Given the description of an element on the screen output the (x, y) to click on. 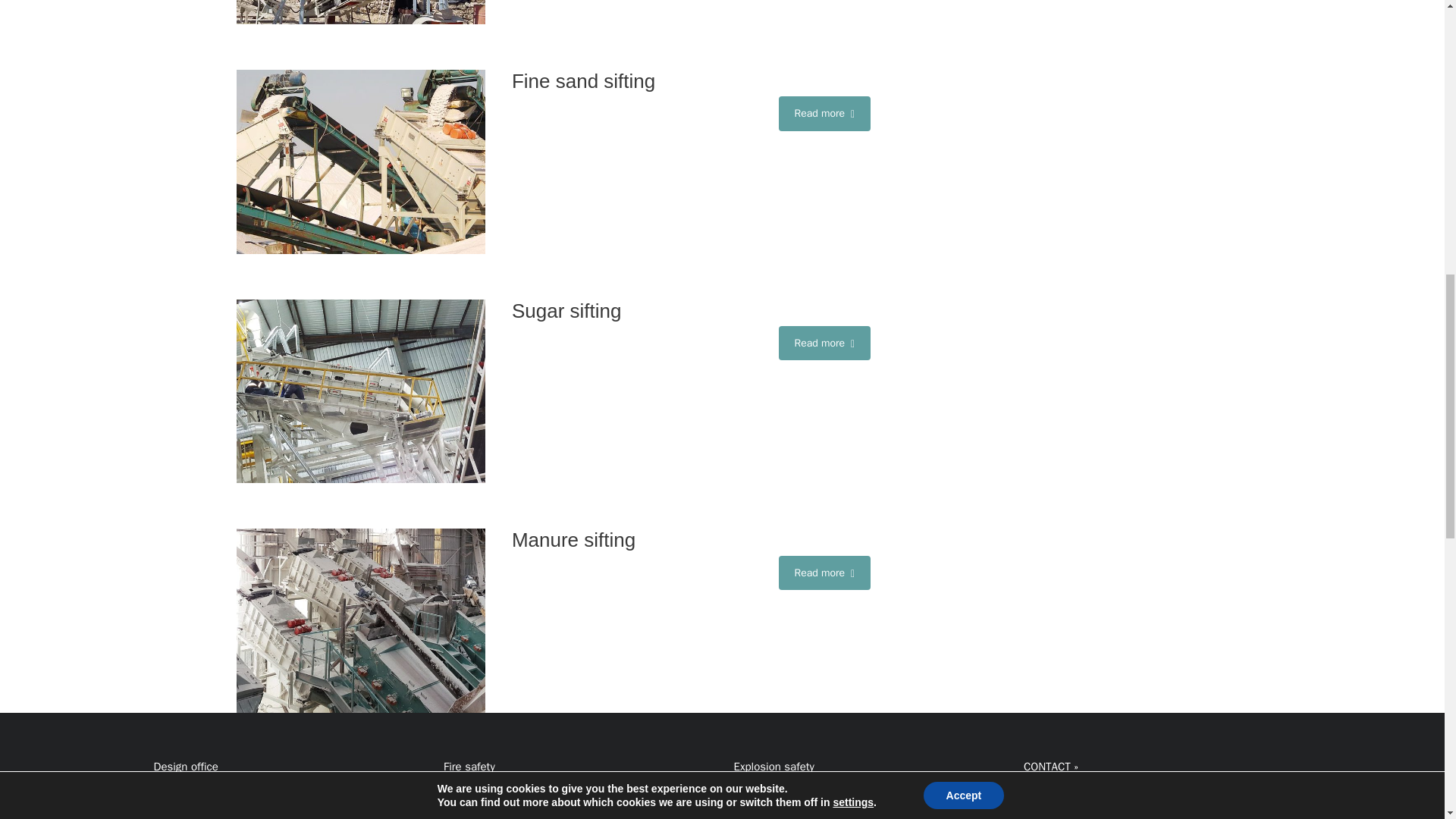
Design Office (184, 766)
Permalink to Manure sifting (359, 620)
Permalink to Manure sifting (691, 540)
Permalink to Fine sand sifting (691, 81)
Permalink to Mineral aggregate sifting (359, 12)
Permalink to Fine sand sifting (359, 161)
Permalink to Sugar sifting (359, 391)
Permalink to Sugar sifting (691, 310)
